Given the description of an element on the screen output the (x, y) to click on. 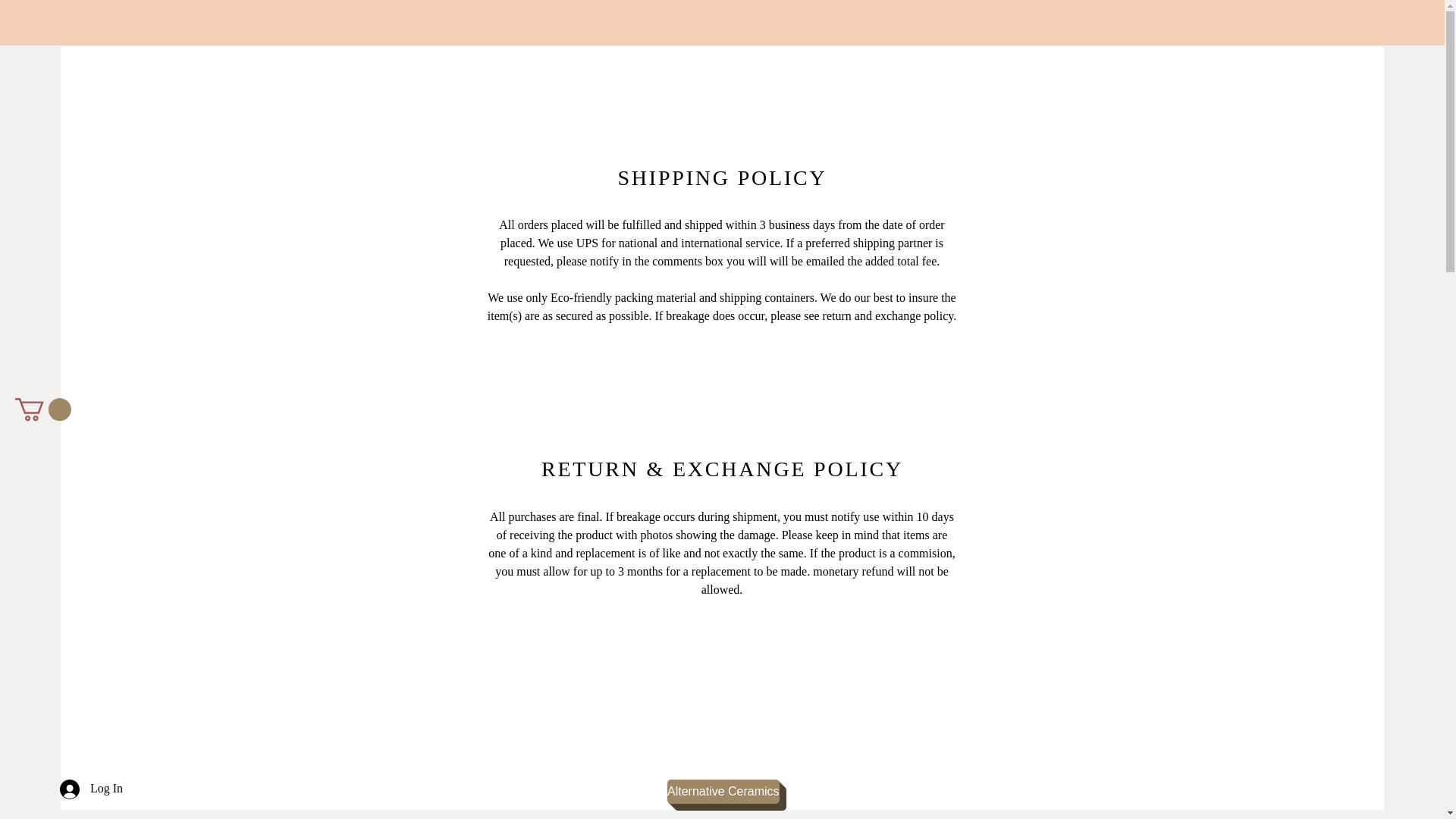
Log In (91, 788)
Alternative Ceramics (722, 791)
